Given the description of an element on the screen output the (x, y) to click on. 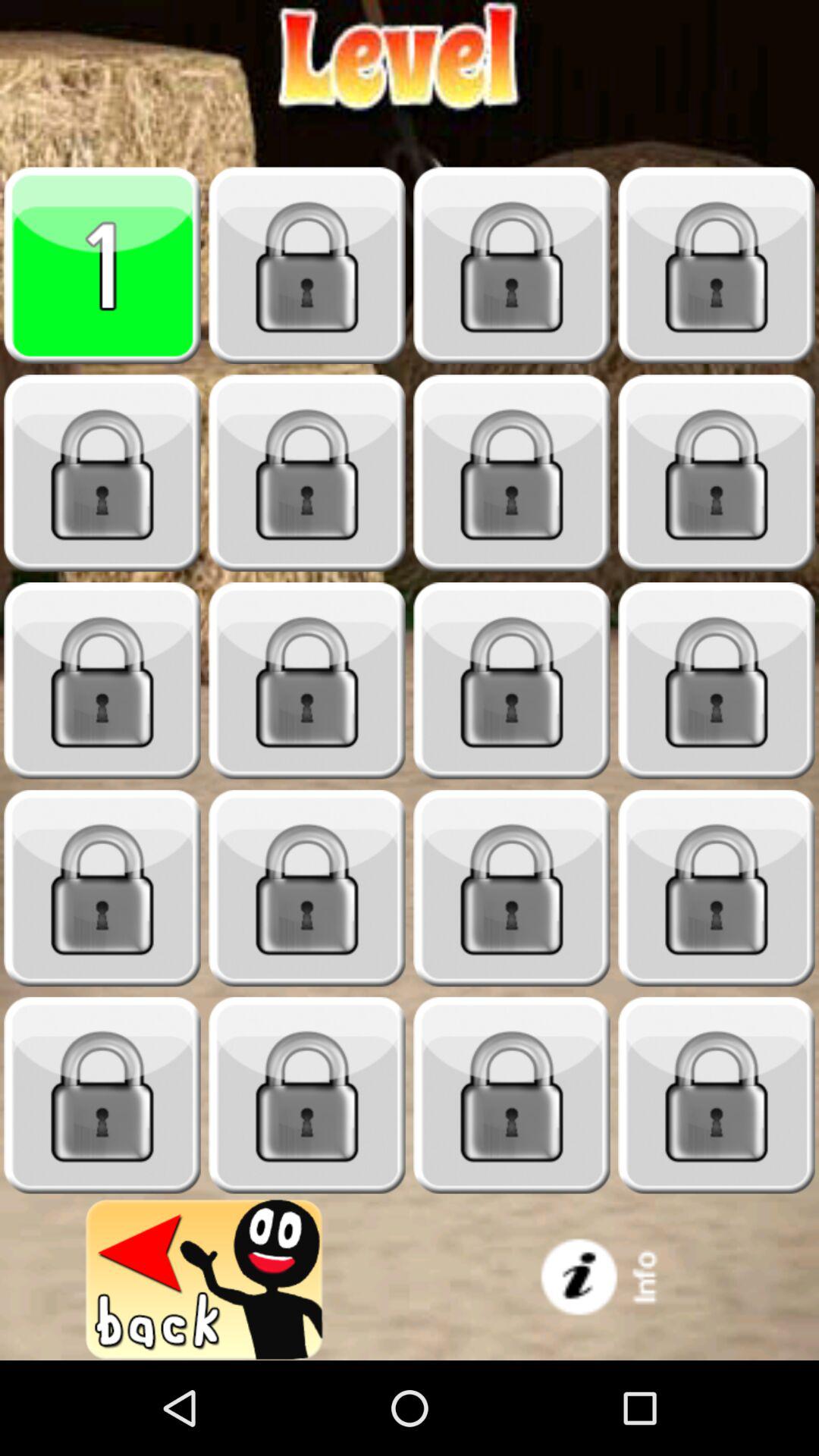
click level (306, 473)
